Given the description of an element on the screen output the (x, y) to click on. 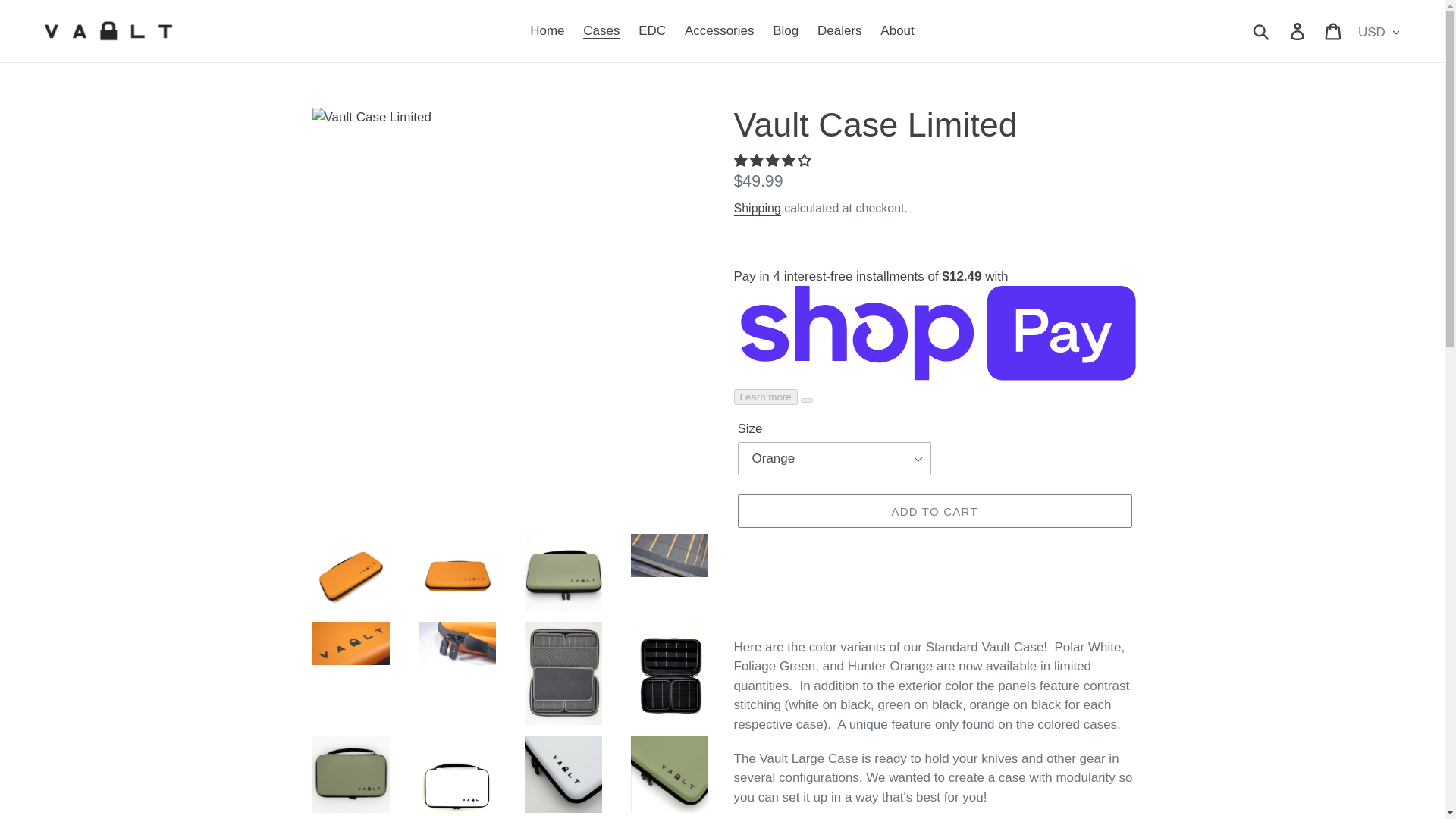
Cases (601, 30)
Log in (1298, 30)
Dealers (839, 30)
Home (547, 30)
EDC (651, 30)
Cart (1334, 30)
Accessories (719, 30)
Blog (785, 30)
About (896, 30)
Submit (1262, 30)
